Given the description of an element on the screen output the (x, y) to click on. 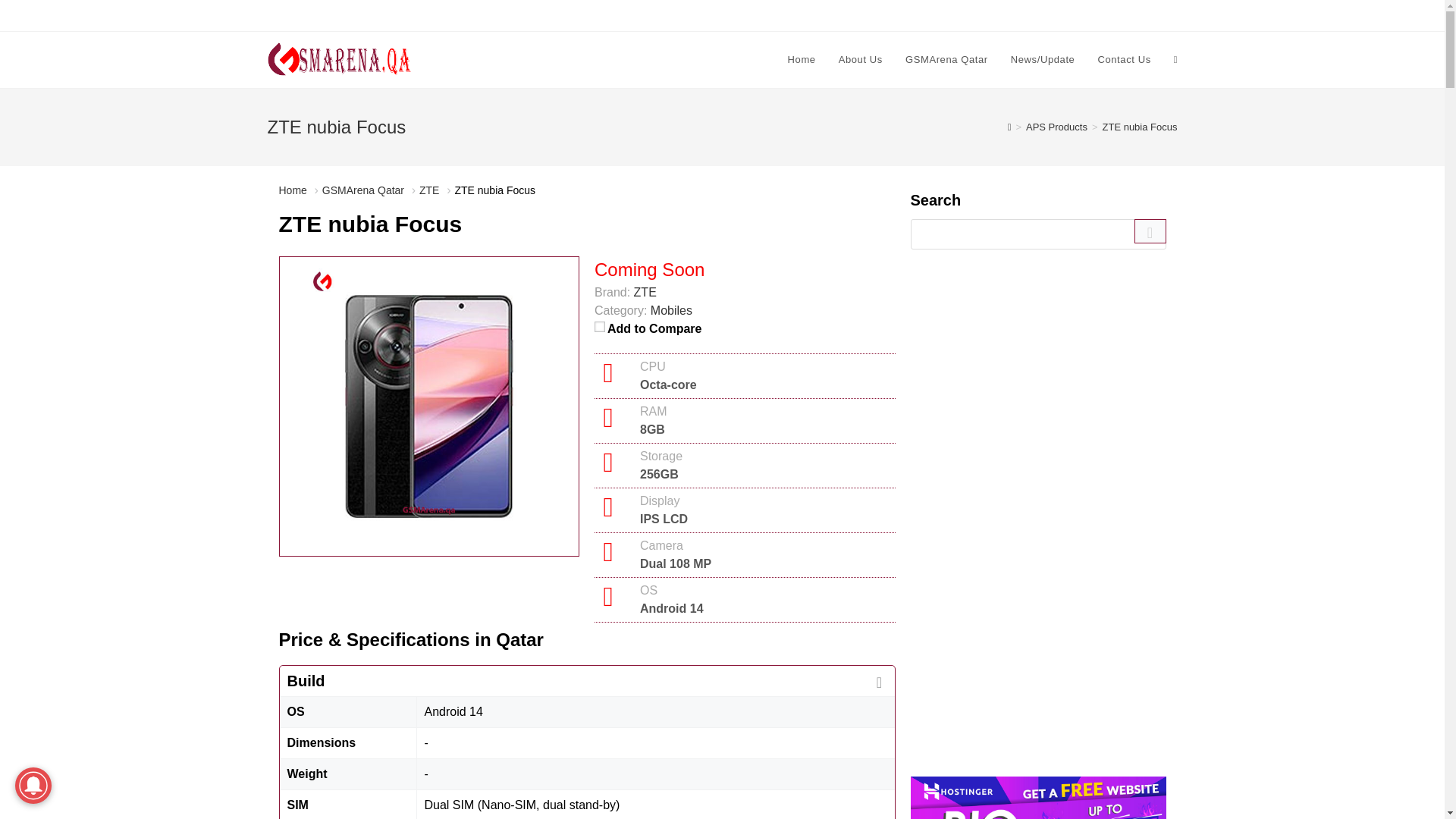
GSMArena Qatar (945, 59)
Laptop Price in Qatar (417, 15)
About Us (860, 59)
GSMArena Qatar (362, 189)
APS Products (1056, 126)
Home (801, 59)
Mobile Price in Qatar (312, 15)
Home (293, 189)
Toggle website search (1175, 59)
ZTE nubia Focus (1139, 126)
ZTE (644, 291)
Smartwatch Price in Qatar (530, 15)
Advertisement (1038, 634)
Contact Us (1123, 59)
Mobiles (671, 309)
